Given the description of an element on the screen output the (x, y) to click on. 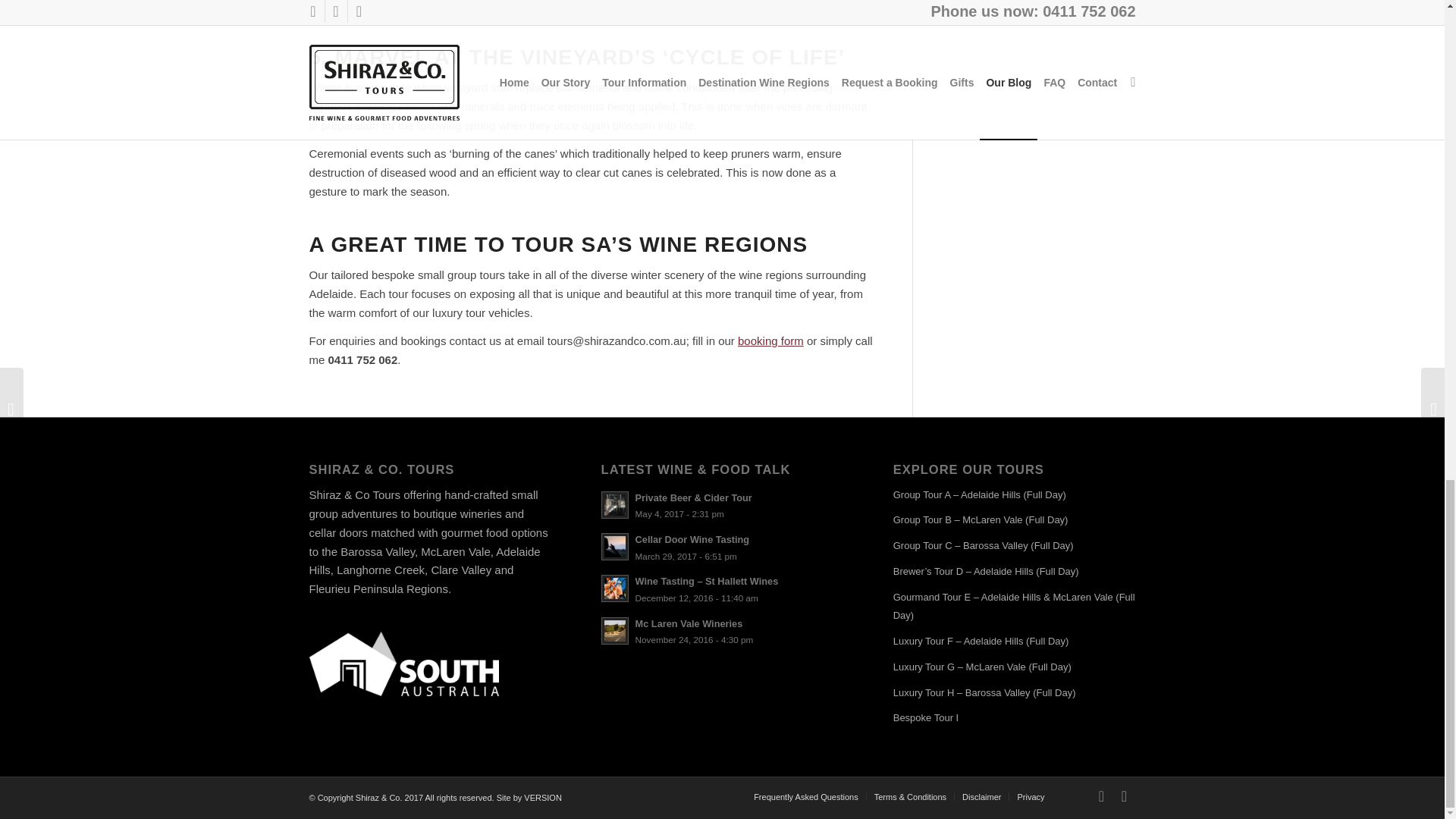
Cellar Door Wine Tasting (722, 546)
Mc Laren Vale Wineries (722, 631)
